Given the description of an element on the screen output the (x, y) to click on. 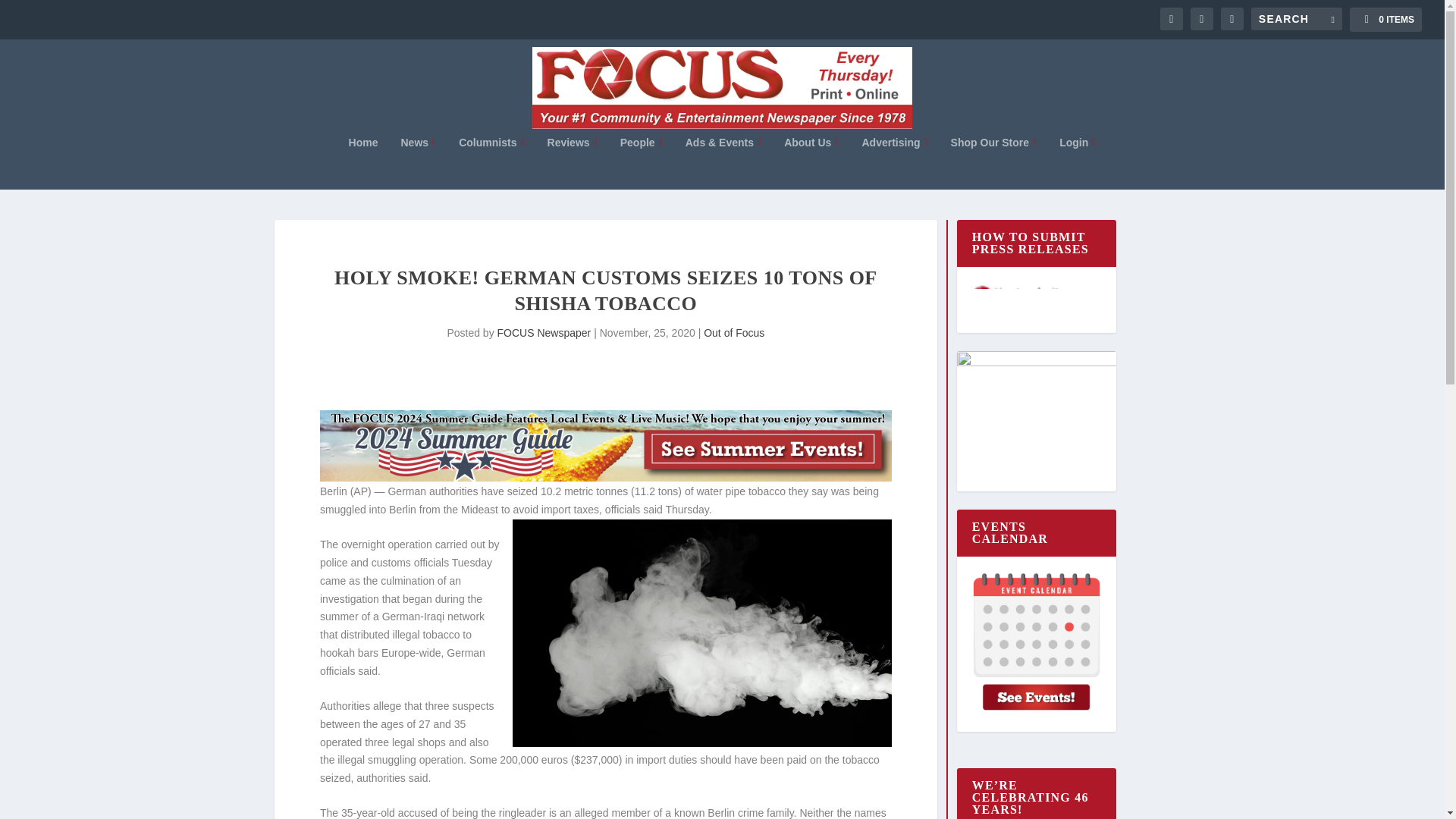
0 ITEMS (1385, 19)
0 Items in Cart (1385, 19)
About Us (811, 162)
Advertising (894, 162)
Shop Our Store (993, 162)
Search for: (1296, 18)
Reviews (571, 162)
Posts by FOCUS Newspaper (544, 332)
Columnists (491, 162)
